Given the description of an element on the screen output the (x, y) to click on. 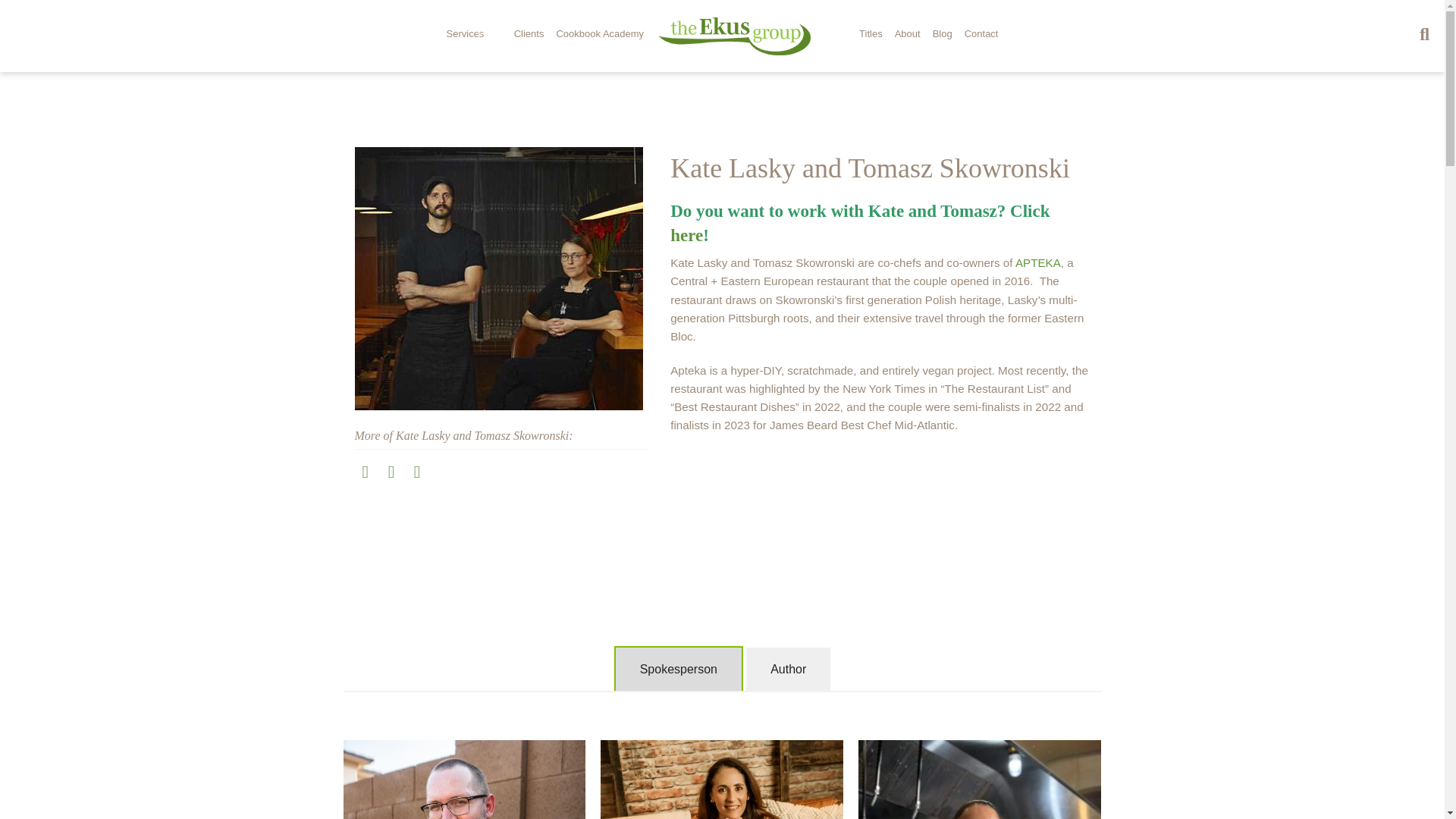
Author (787, 669)
Titles (870, 34)
Spokesperson (678, 669)
Blog (942, 34)
About (907, 34)
Services (474, 34)
Contact (981, 34)
here (686, 235)
APTEKA (1037, 262)
Clients (529, 34)
Cookbook Academy (599, 34)
